Given the description of an element on the screen output the (x, y) to click on. 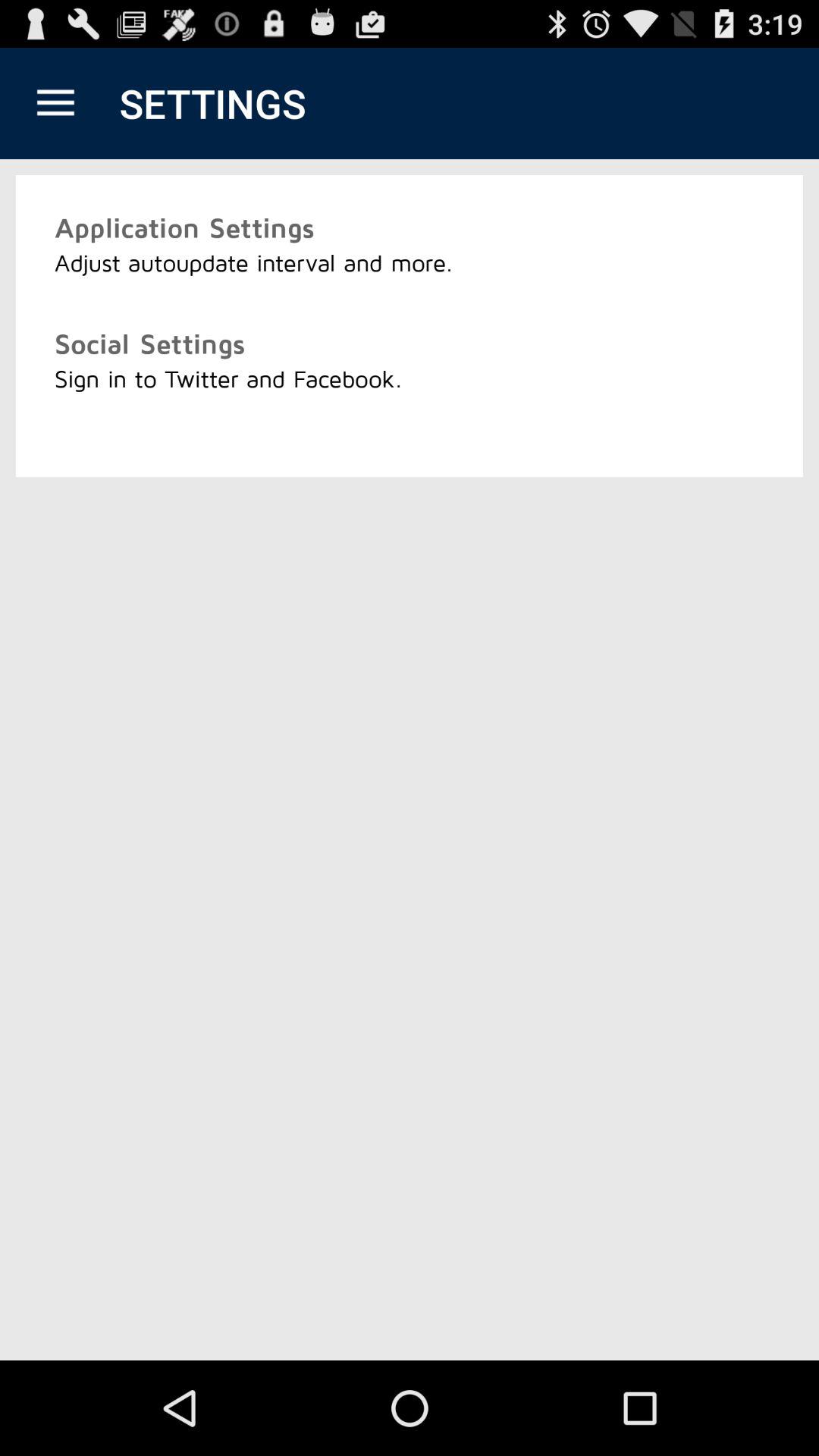
turn off the app next to settings item (55, 103)
